Given the description of an element on the screen output the (x, y) to click on. 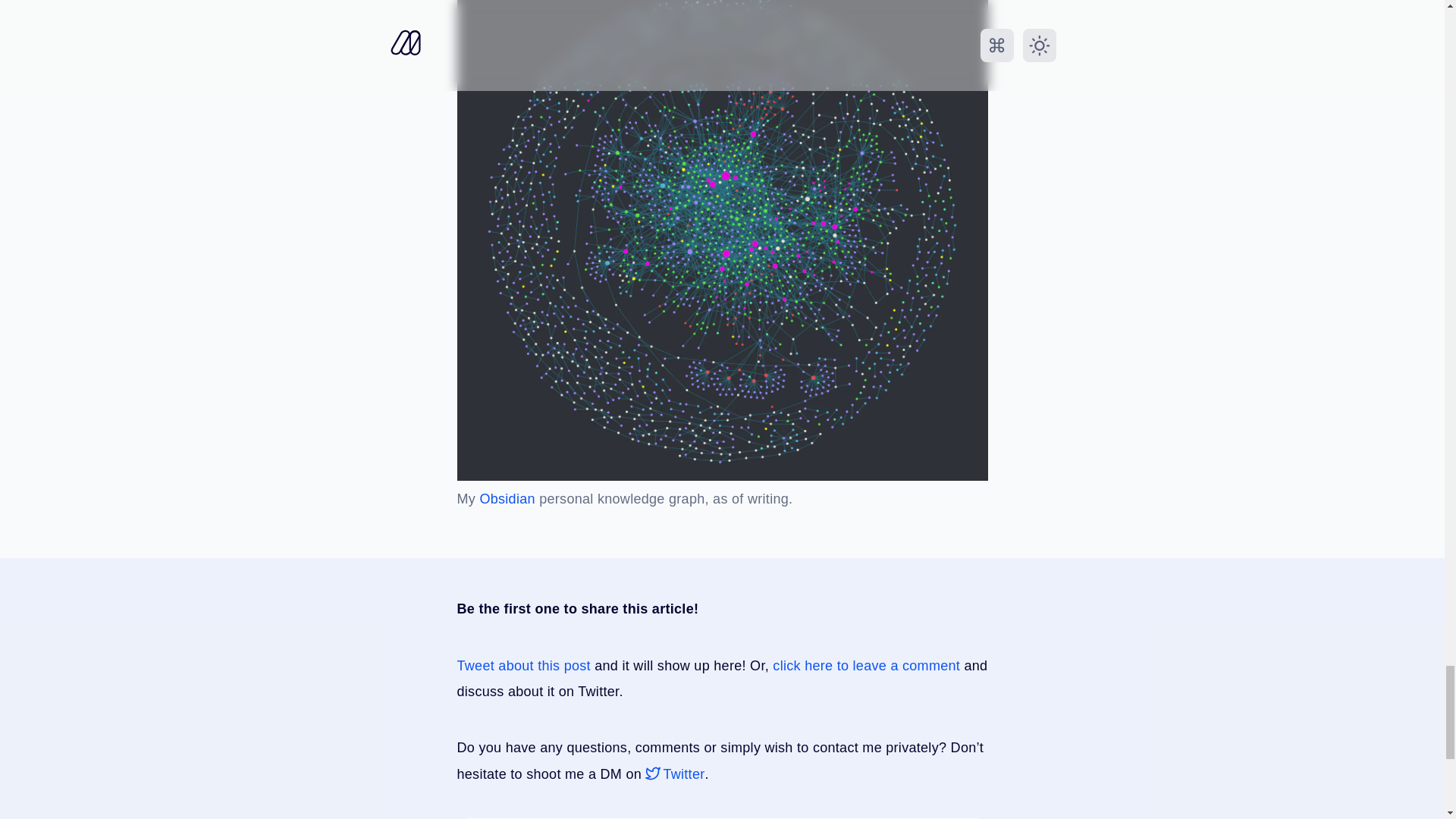
Tweet about this post (523, 666)
click here to leave a comment (866, 666)
Obsidian (506, 499)
Twitter (674, 774)
